Given the description of an element on the screen output the (x, y) to click on. 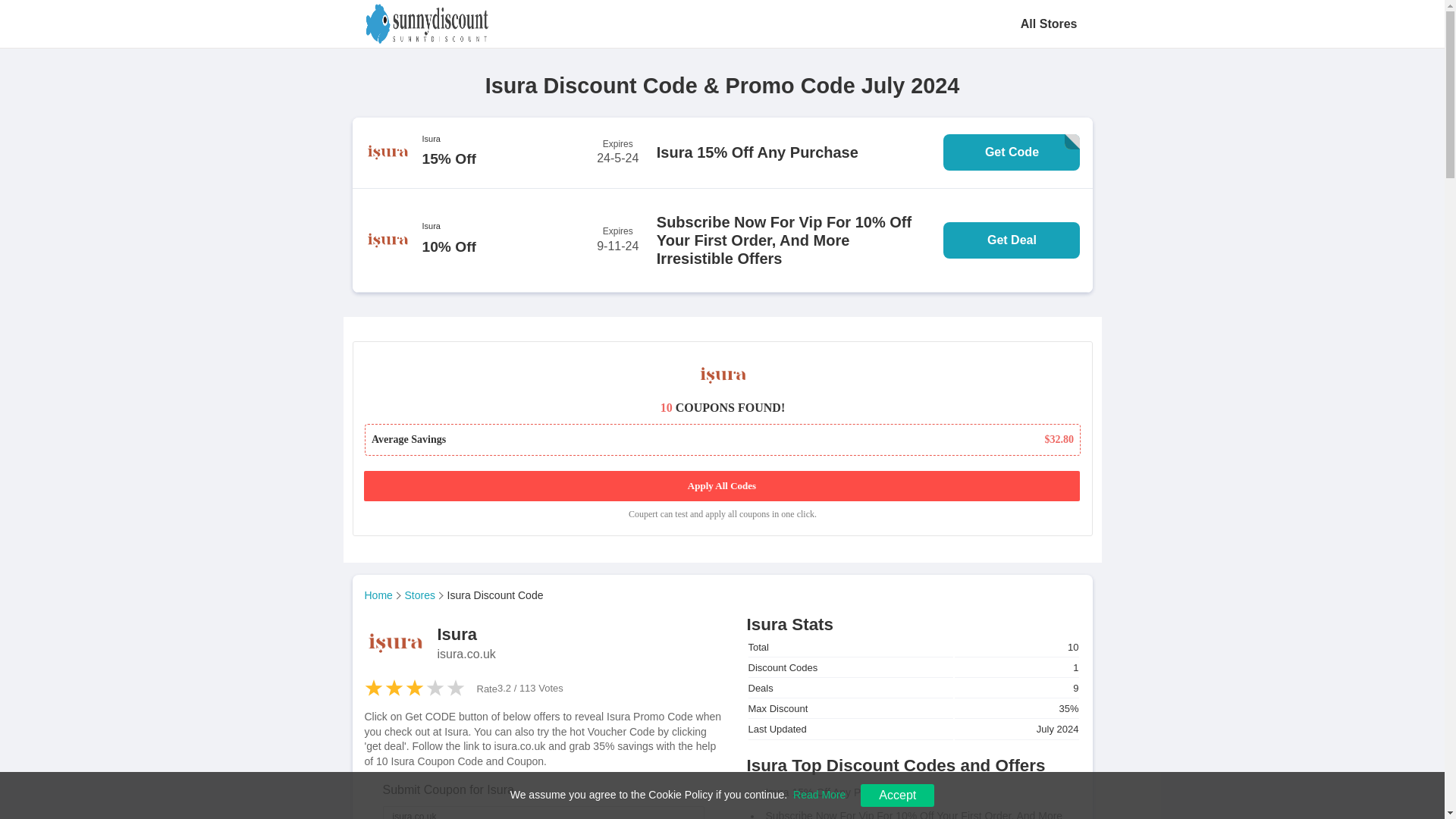
isura.co.uk (542, 812)
Stores (424, 594)
Get Code (1011, 152)
All Stores (1049, 23)
Get Deal (1011, 239)
Home (382, 594)
